Given the description of an element on the screen output the (x, y) to click on. 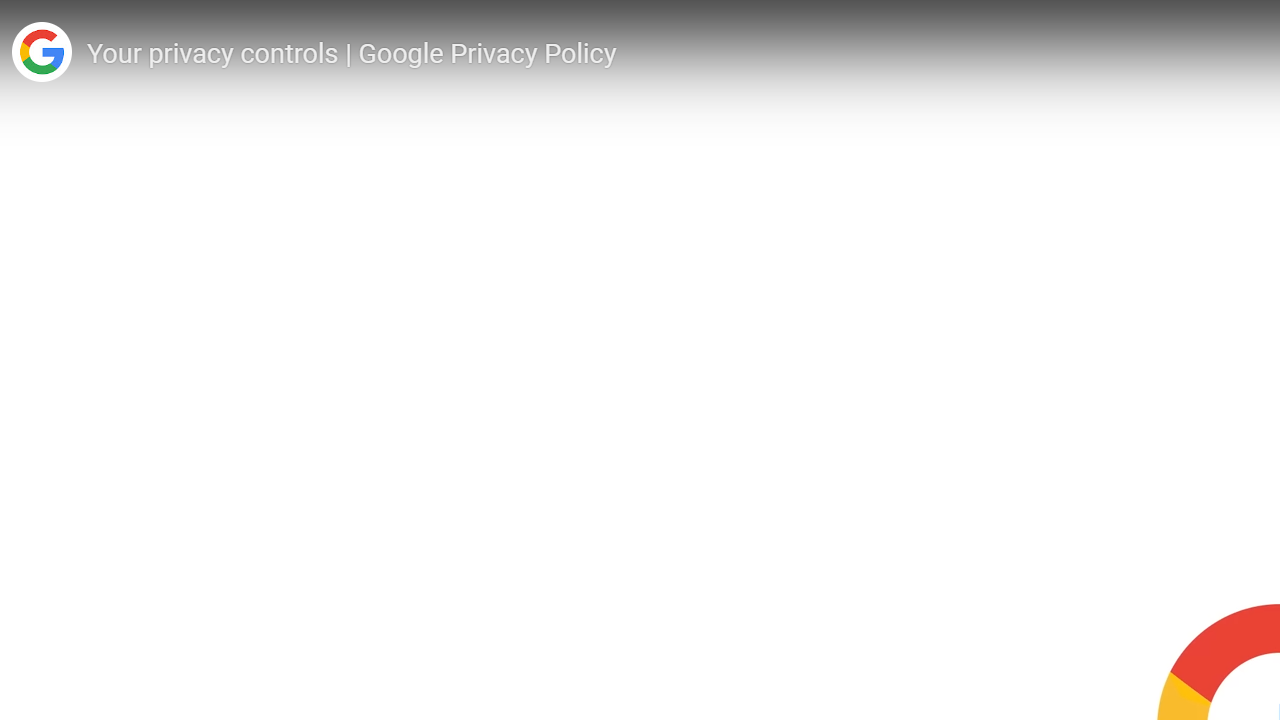
Photo image of Google (41, 52)
